Given the description of an element on the screen output the (x, y) to click on. 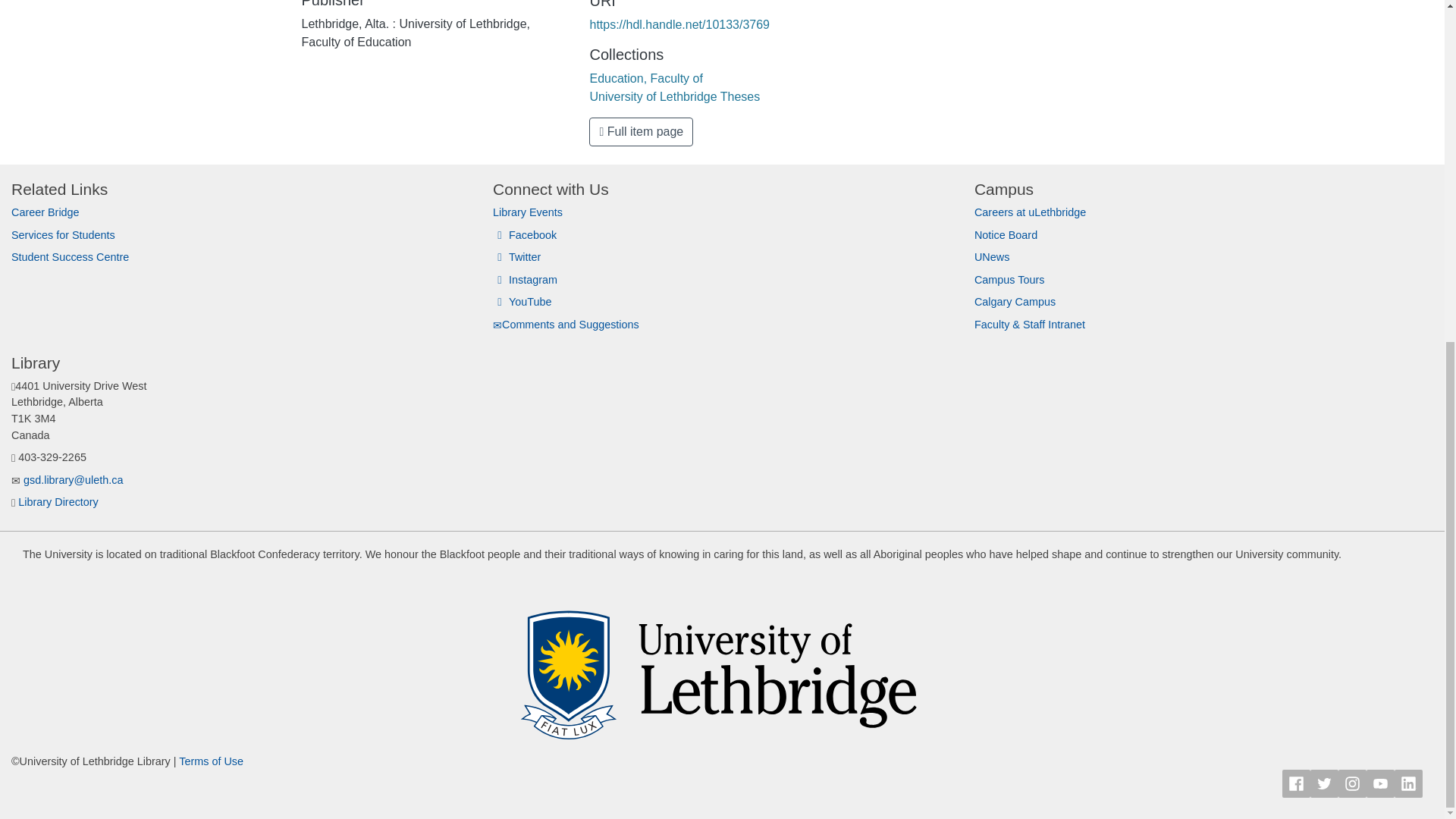
Twitter (516, 256)
Careers at uLethbridge (1030, 212)
Instagram (525, 279)
Campus Tours (1009, 279)
Twitter Link (1324, 783)
Comments and Suggestions (566, 324)
YouTube Link (1380, 783)
Full item page (641, 131)
University of Lethbridge Theses (674, 96)
Student Success Centre (70, 256)
Services for Students (63, 234)
Facebook (524, 234)
Facebook Link (1296, 783)
Library Events (527, 212)
The University of Lethbridge (721, 665)
